Given the description of an element on the screen output the (x, y) to click on. 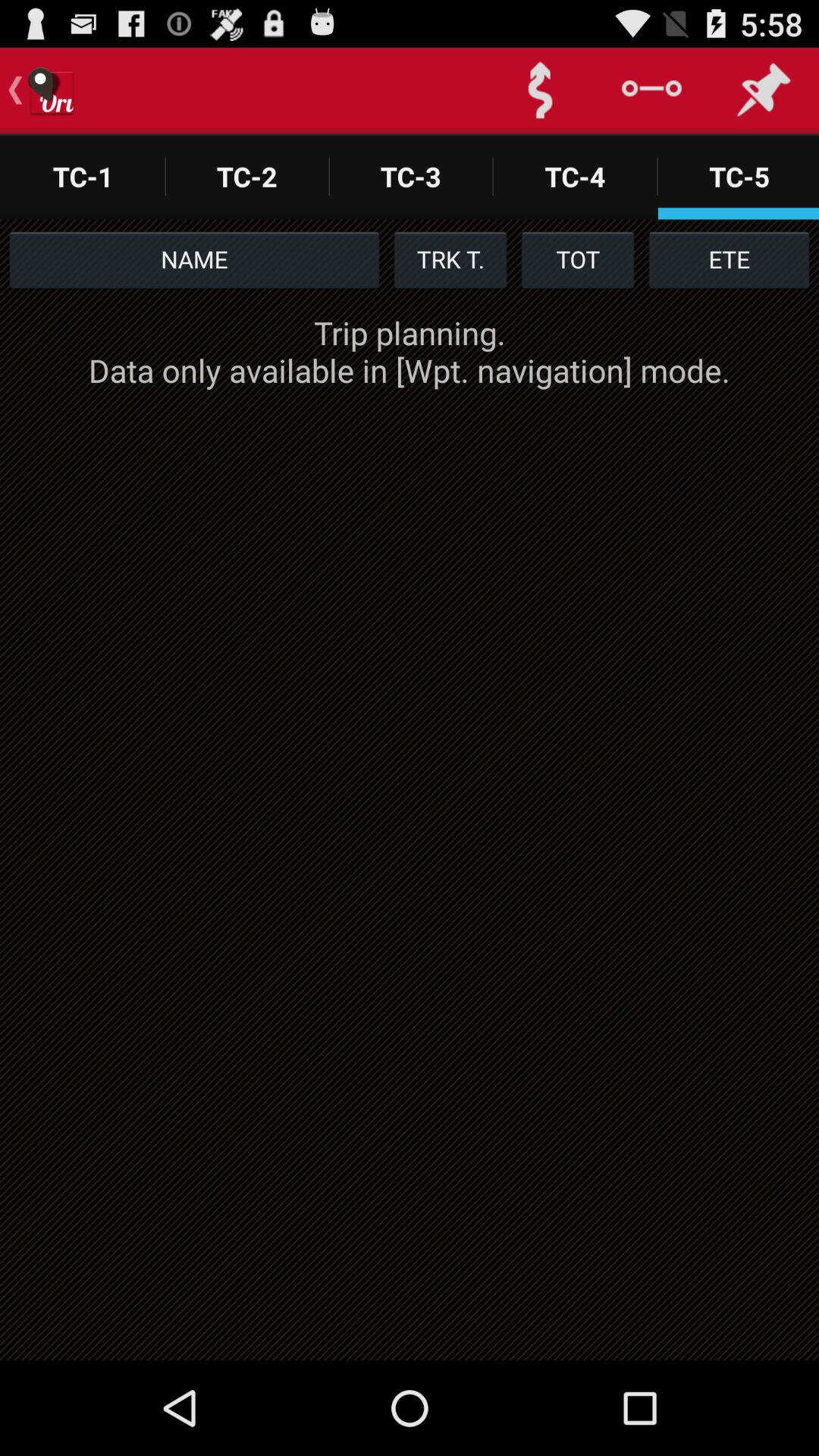
show or plan route (540, 90)
